Given the description of an element on the screen output the (x, y) to click on. 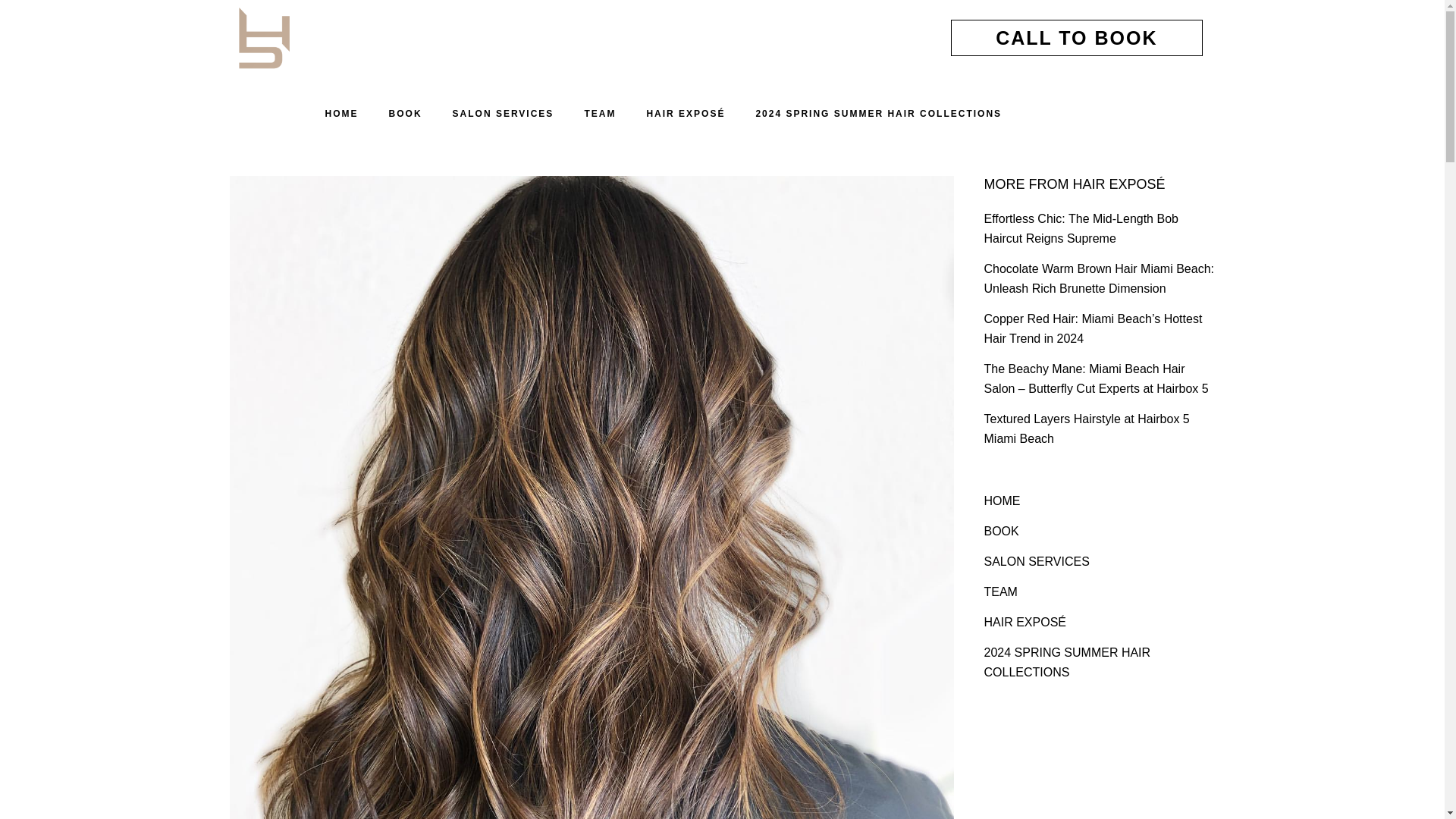
SALON SERVICES (503, 113)
CALL TO BOOK (1076, 37)
Effortless Chic: The Mid-Length Bob Haircut Reigns Supreme (1080, 228)
2024 SPRING SUMMER HAIR COLLECTIONS (877, 113)
